Given the description of an element on the screen output the (x, y) to click on. 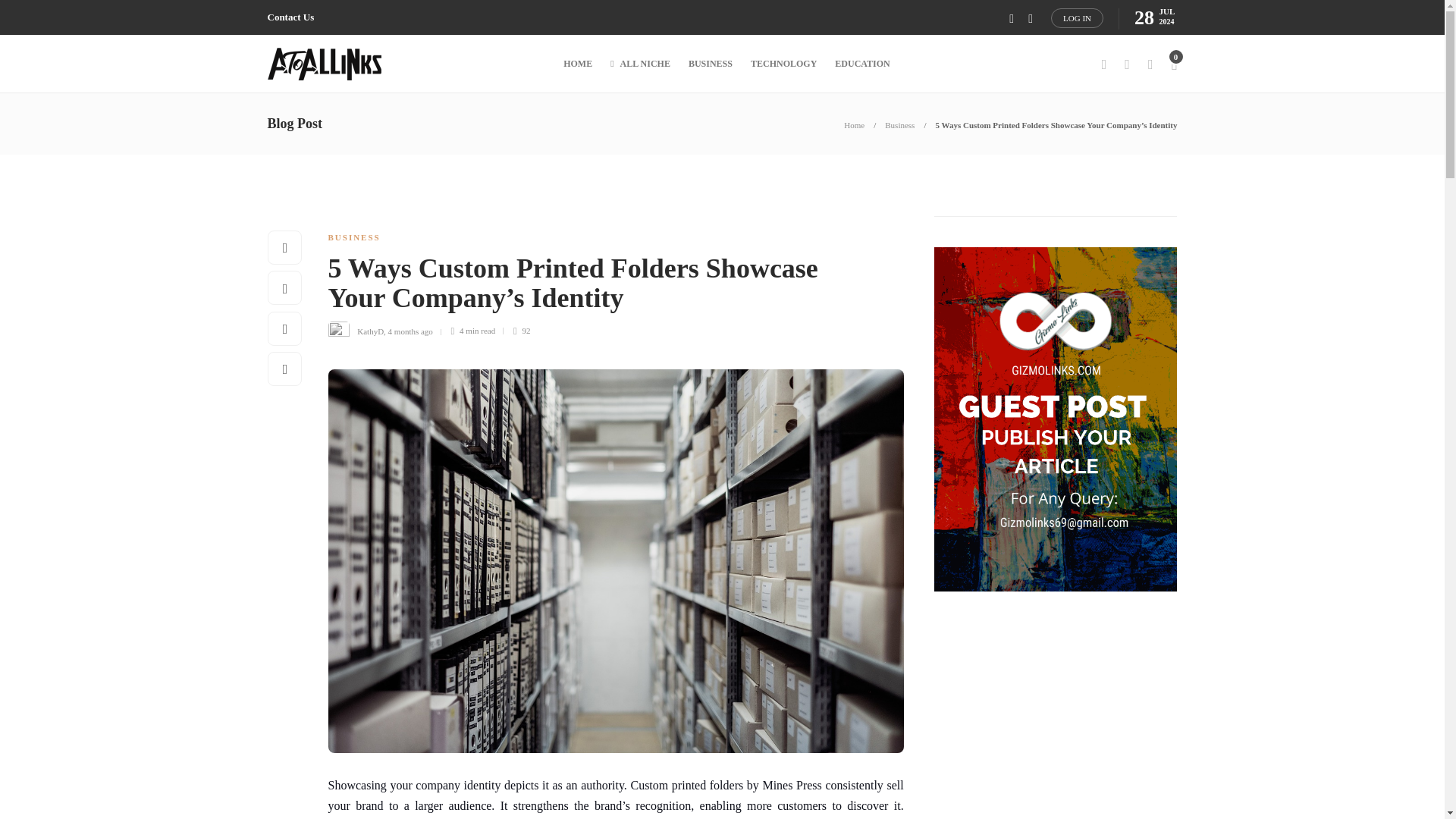
4 months ago (410, 329)
TECHNOLOGY (783, 63)
LOG IN (1077, 17)
Home (854, 124)
Home (854, 124)
EDUCATION (861, 63)
KathyD (370, 329)
ALL NICHE (639, 63)
BUSINESS (353, 236)
Business (899, 124)
Contact Us (290, 17)
